Given the description of an element on the screen output the (x, y) to click on. 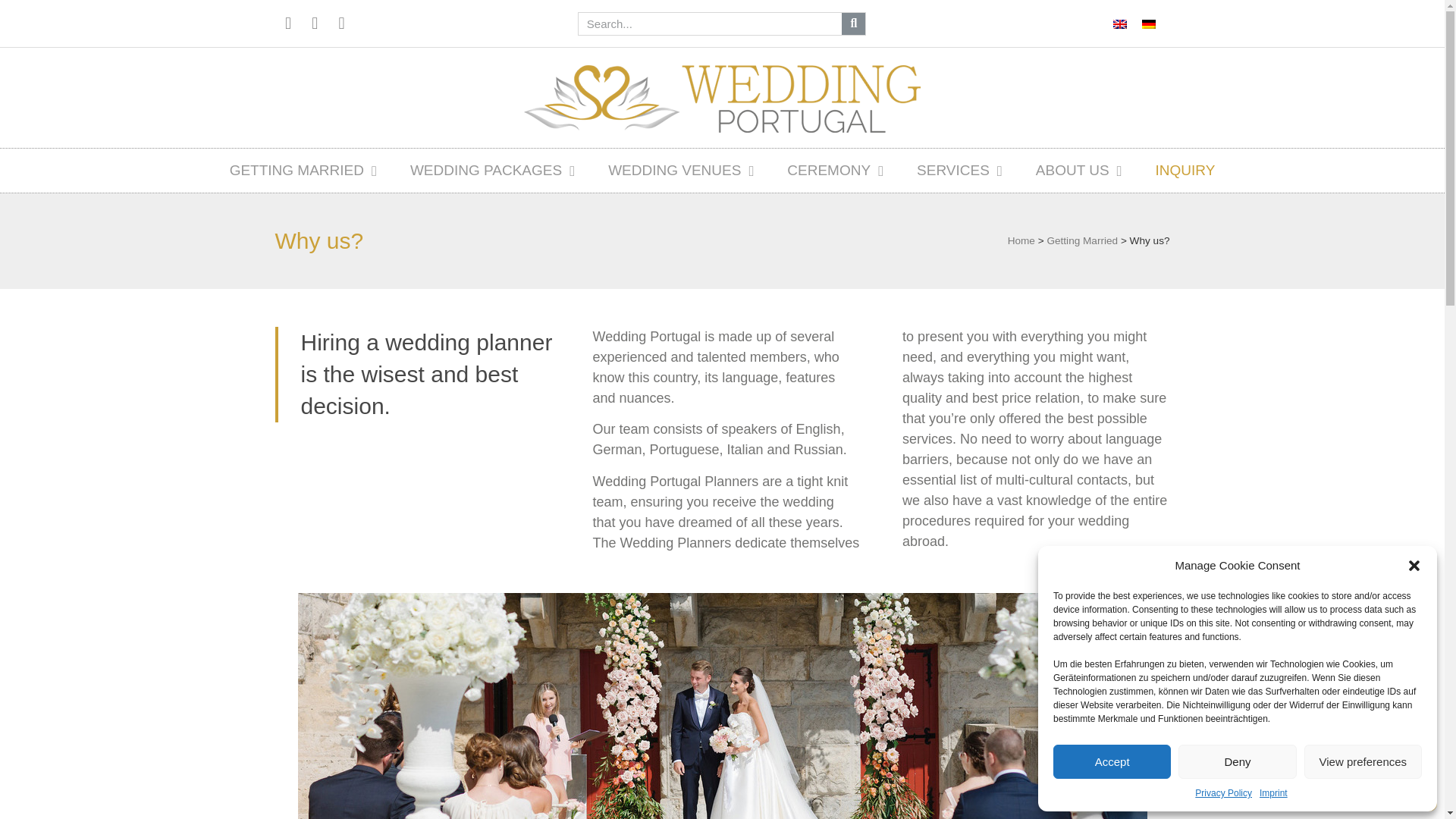
WEDDING PACKAGES (492, 170)
View preferences (1363, 761)
Imprint (1273, 793)
Accept (1111, 761)
Search (709, 23)
WEDDING VENUES (681, 170)
Search (852, 23)
Deny (1236, 761)
Privacy Policy (1223, 793)
GETTING MARRIED (303, 170)
CEREMONY (835, 170)
